Given the description of an element on the screen output the (x, y) to click on. 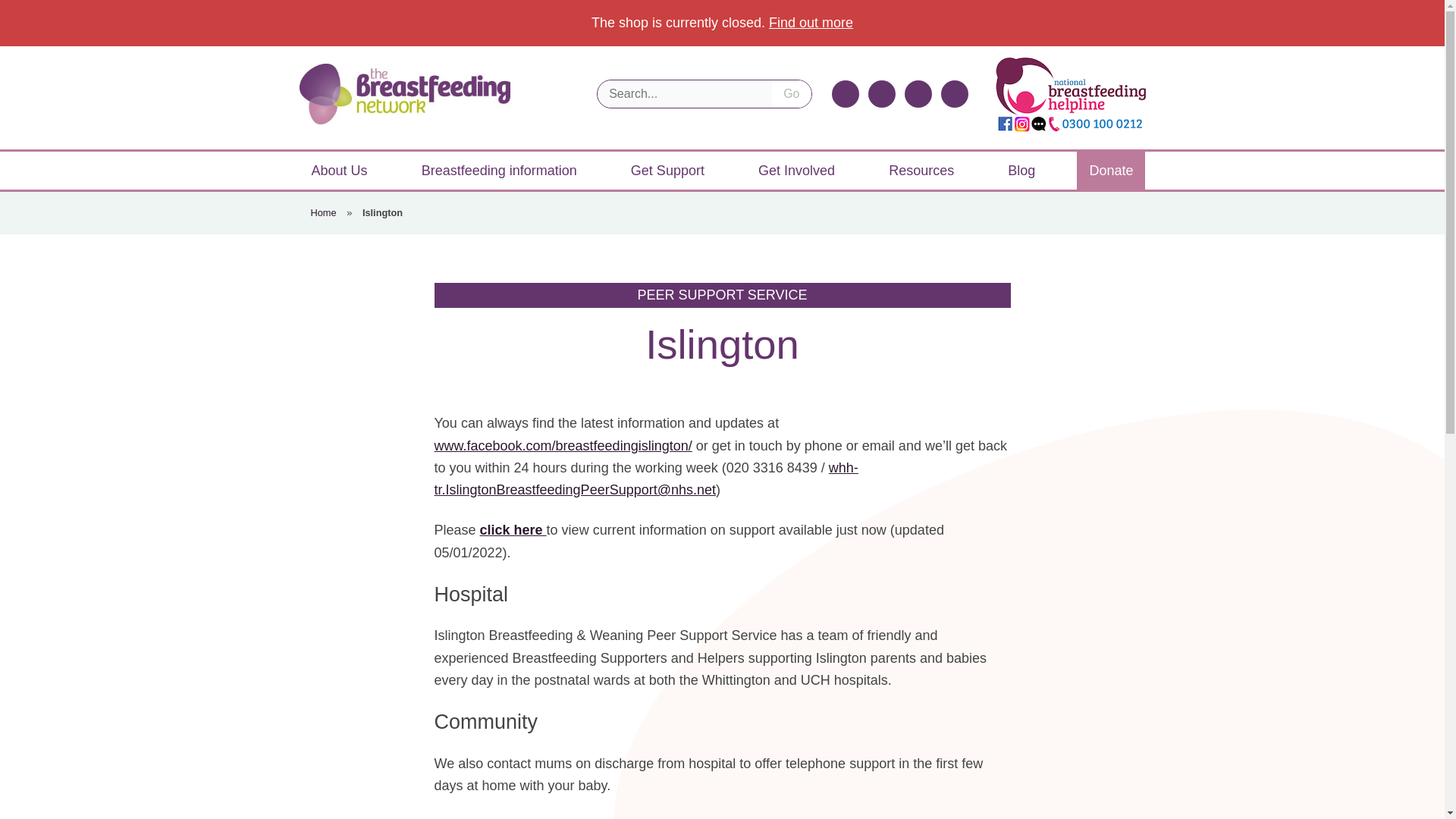
The Breastfeeding Network (403, 93)
About Us (338, 170)
Go (790, 93)
Breastfeeding information (499, 170)
Go (790, 93)
Find out more (810, 22)
Go (790, 93)
